Given the description of an element on the screen output the (x, y) to click on. 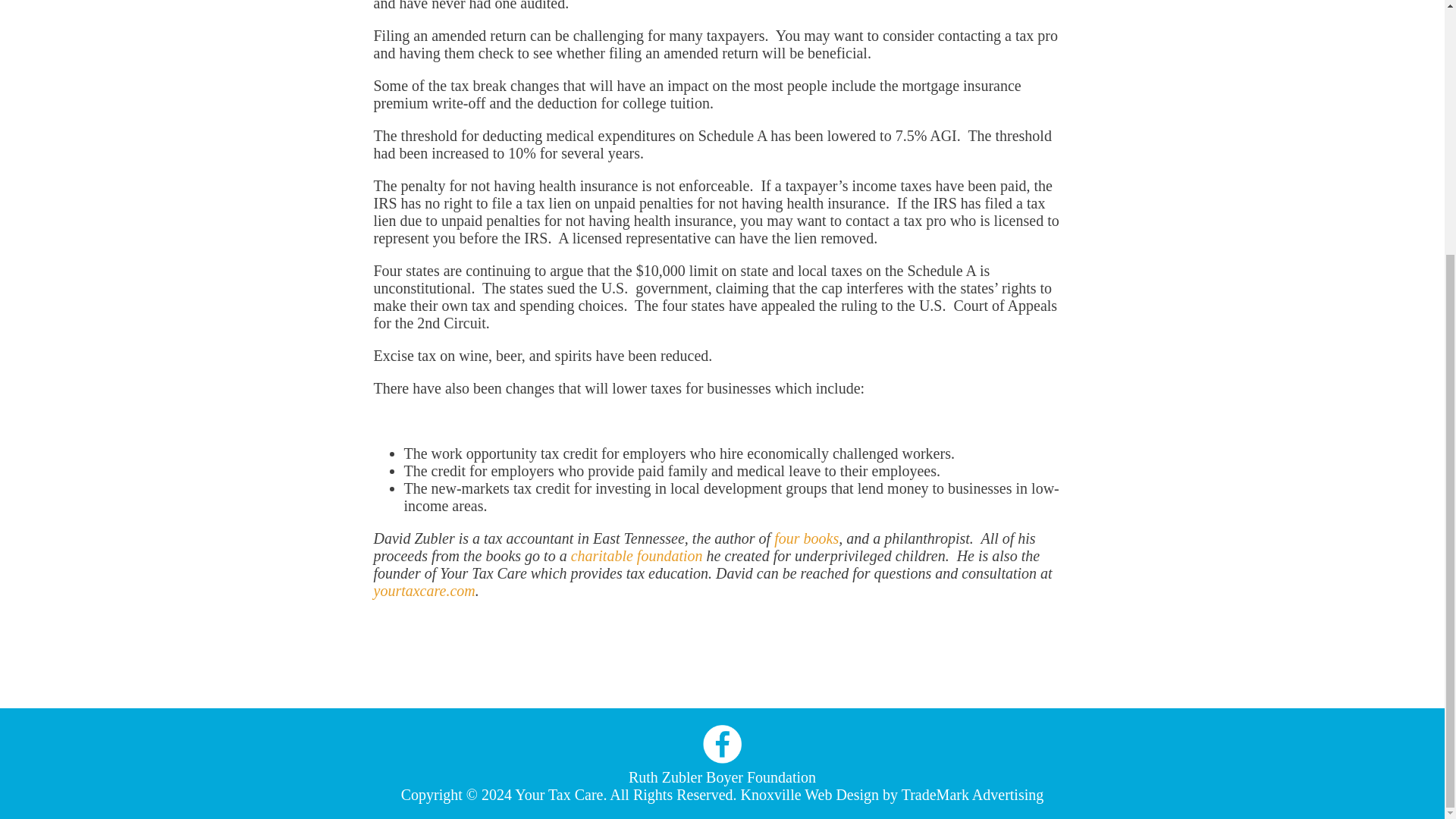
four books (806, 538)
Ruth Zubler Boyer Foundation (721, 777)
charitable foundation (636, 555)
yourtaxcare.com (423, 590)
Knoxville Web Design by TradeMark Advertising (892, 794)
